Given the description of an element on the screen output the (x, y) to click on. 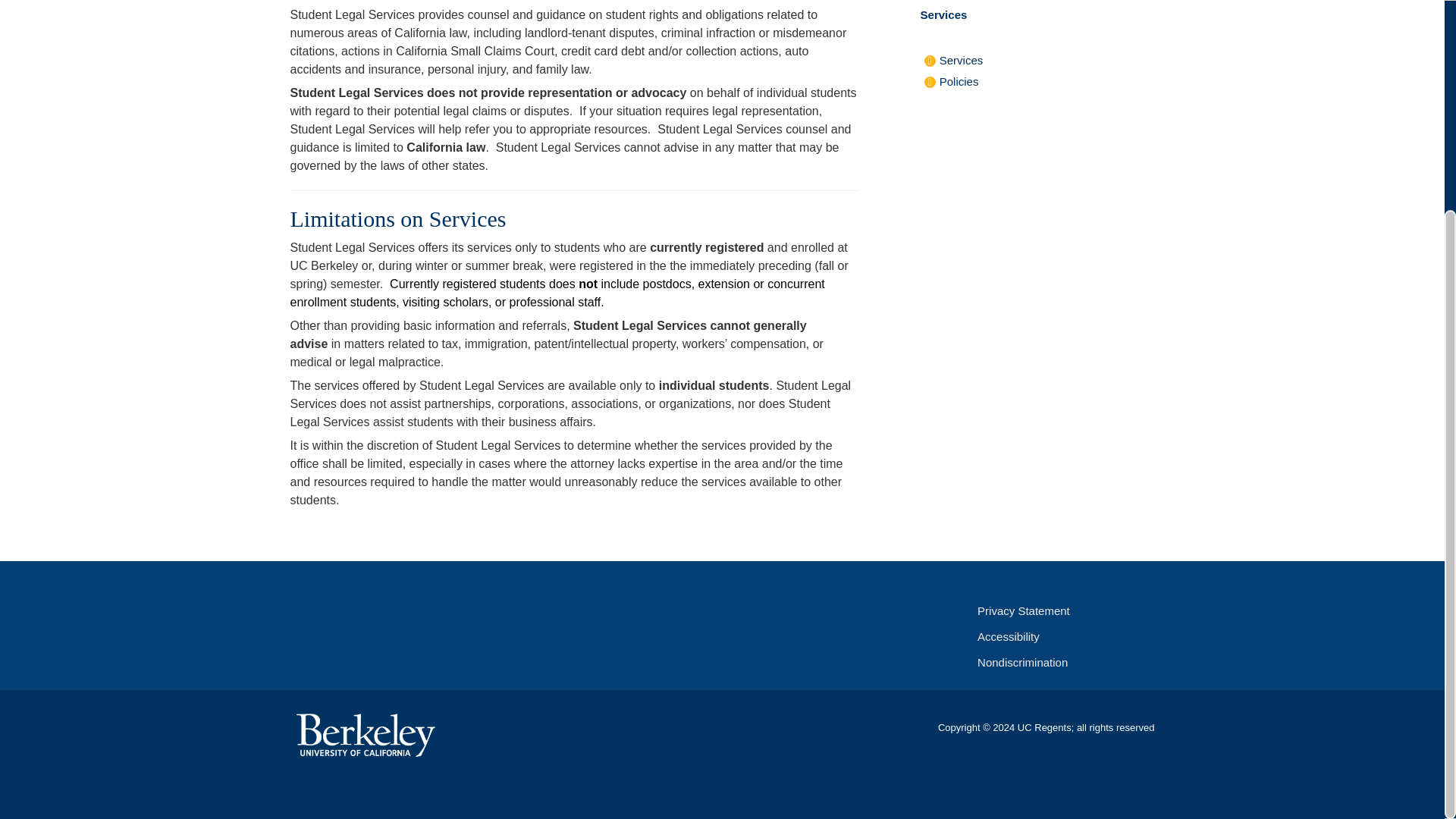
Accessibility (1036, 636)
Services (944, 14)
Services (961, 60)
Nondiscrimination (1036, 662)
Policies (958, 81)
Policies (939, 0)
Privacy Statement (1036, 610)
